Given the description of an element on the screen output the (x, y) to click on. 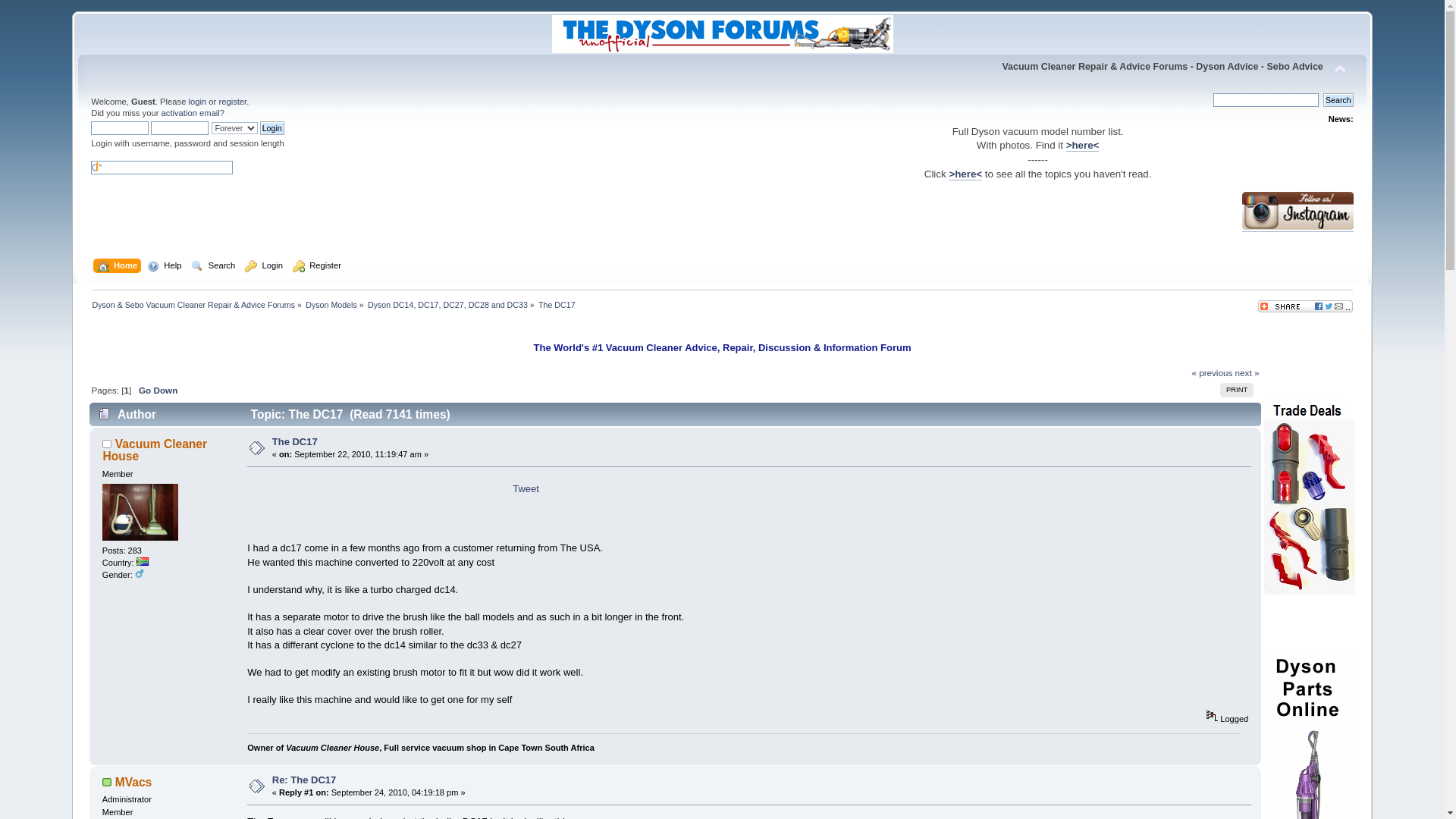
Go Down (157, 389)
MVacs (133, 781)
  Search (214, 266)
register (232, 101)
login (196, 101)
The DC17 (294, 441)
  Register (318, 266)
View the profile of MVacs (133, 781)
Search (1338, 100)
Dyson Models (330, 304)
PRINT (1236, 390)
Login (271, 128)
Vacuum Cleaner House (153, 449)
Search (1338, 100)
Re: The DC17 (304, 779)
